Given the description of an element on the screen output the (x, y) to click on. 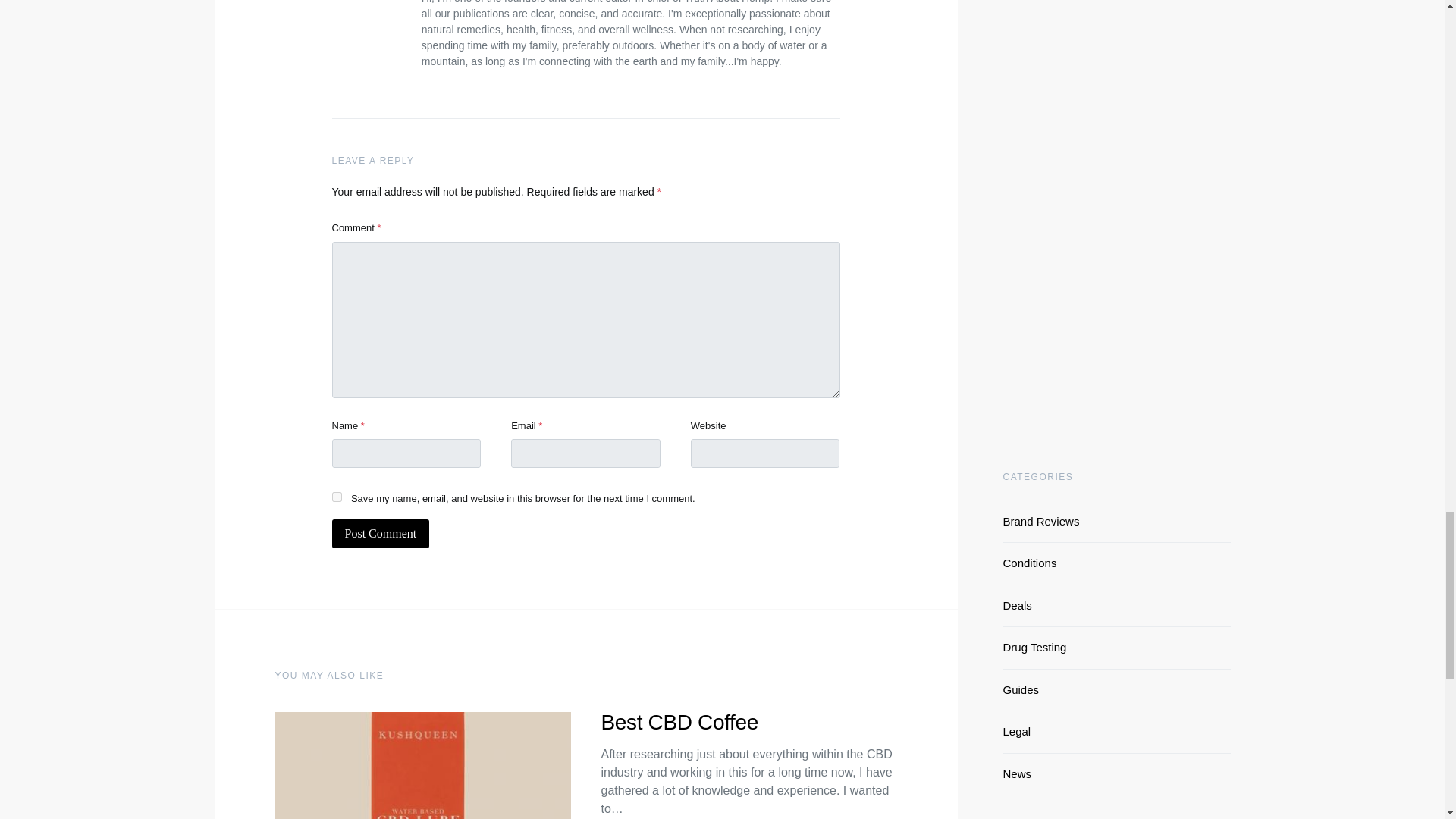
yes (336, 497)
Post Comment (380, 533)
Post Comment (380, 533)
Best CBD Coffee (678, 721)
